Given the description of an element on the screen output the (x, y) to click on. 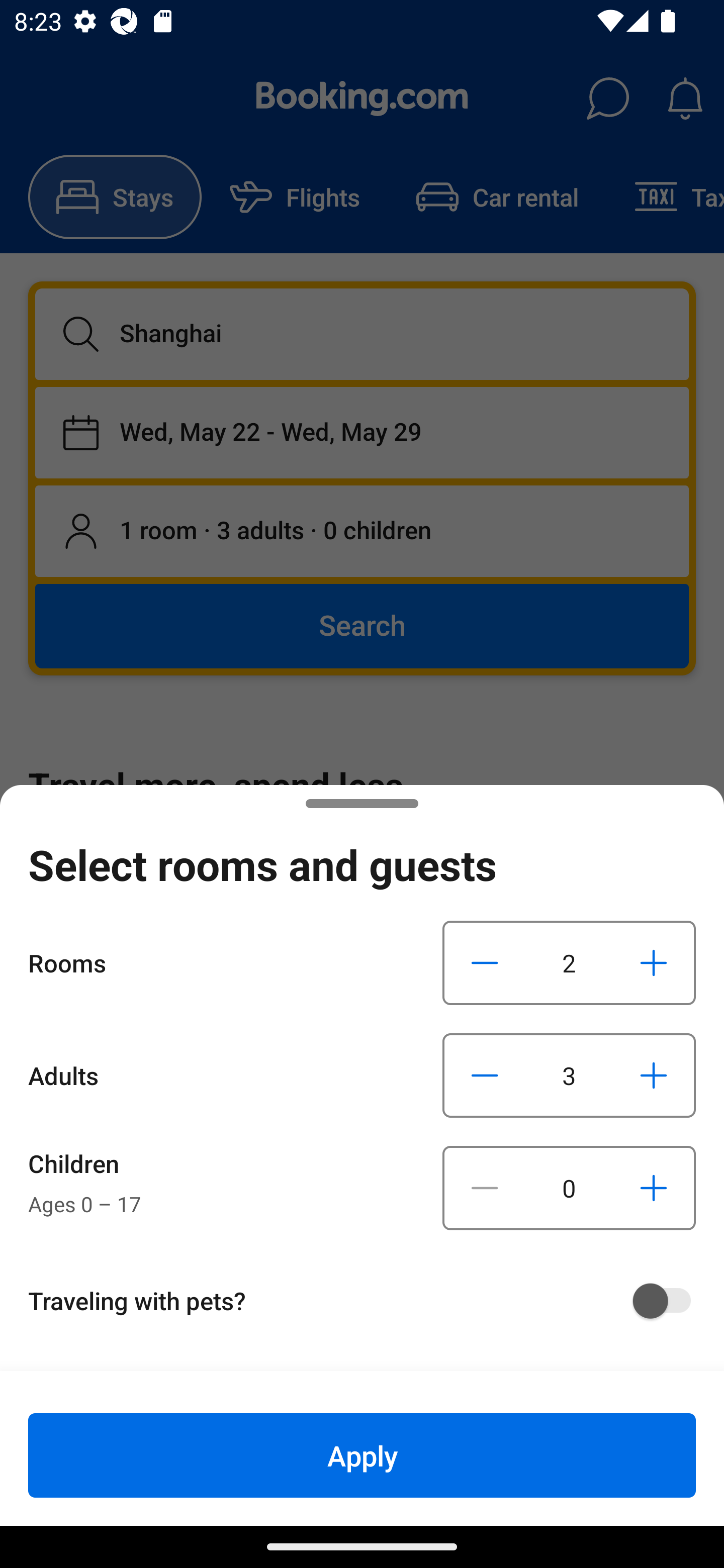
Decrease (484, 962)
Increase (653, 962)
Decrease (484, 1075)
Increase (653, 1075)
Decrease (484, 1188)
Increase (653, 1188)
Traveling with pets? (369, 1300)
Apply (361, 1454)
